Given the description of an element on the screen output the (x, y) to click on. 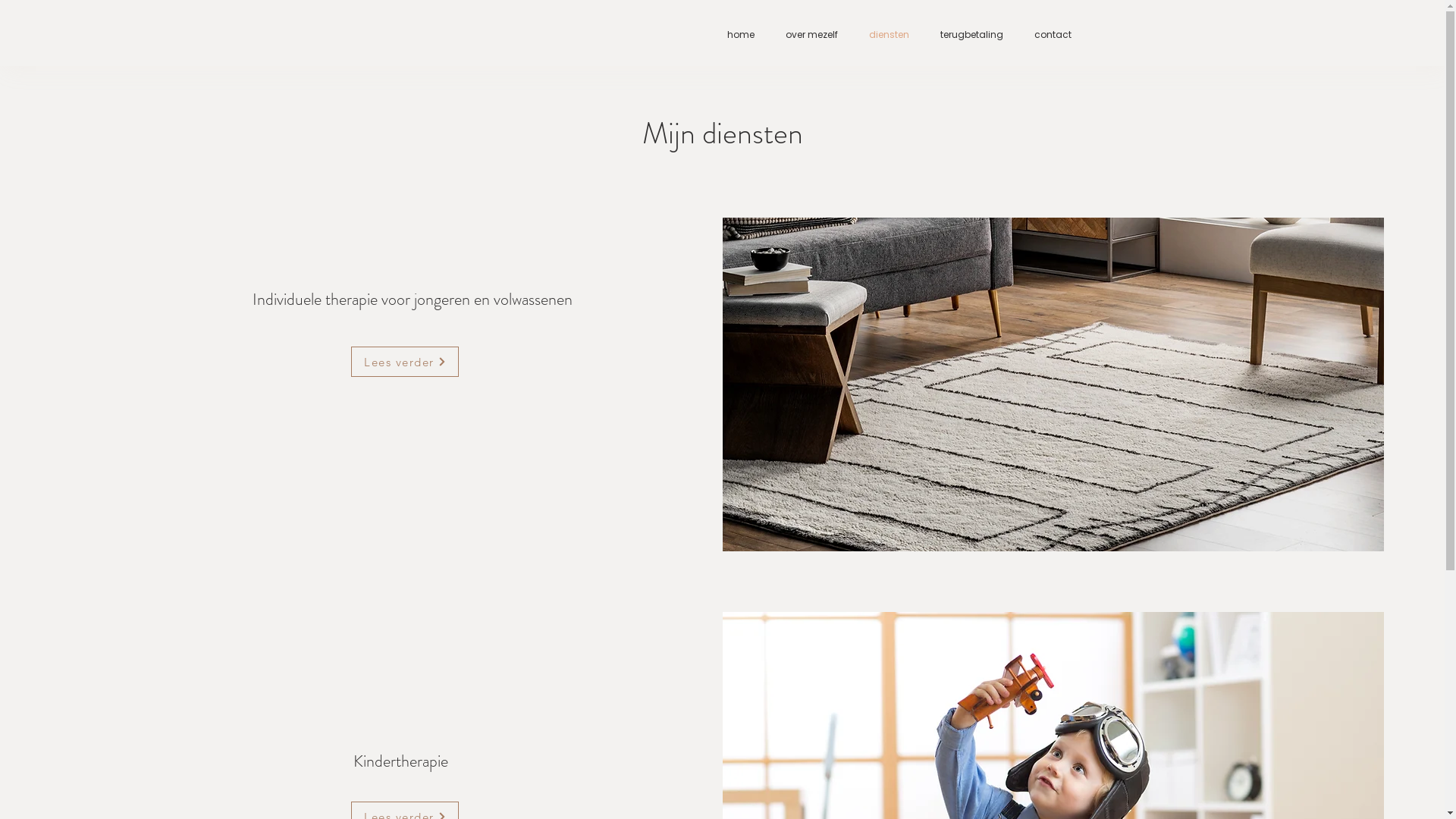
contact Element type: text (1044, 34)
terugbetaling Element type: text (963, 34)
over mezelf Element type: text (802, 34)
diensten Element type: text (880, 34)
home Element type: text (732, 34)
Lees verder Element type: text (404, 361)
